Given the description of an element on the screen output the (x, y) to click on. 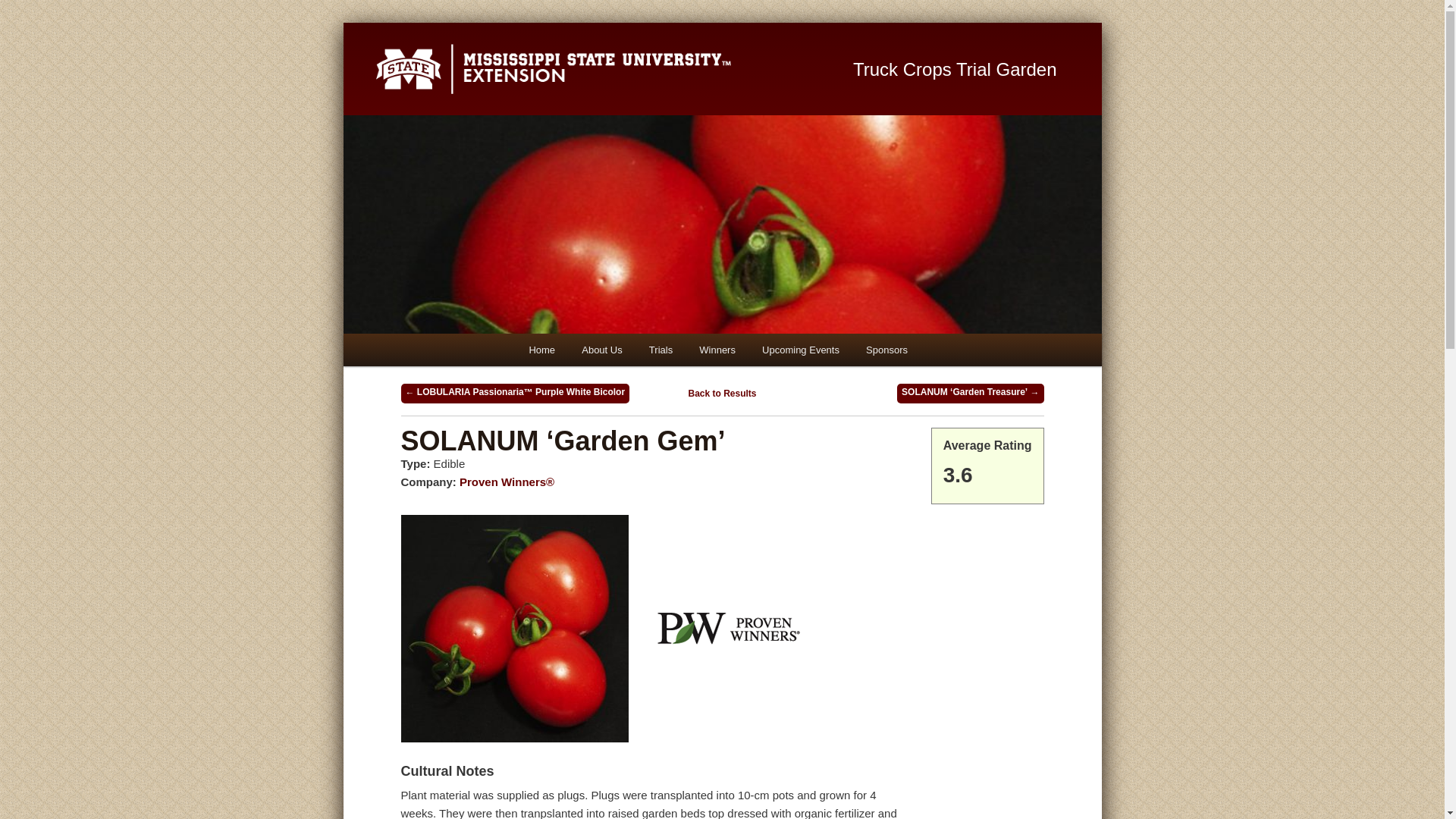
Truck Crops Trial Garden (960, 69)
About Us (601, 349)
Home (541, 349)
Trials (660, 349)
Upcoming Events (799, 349)
Sponsors (885, 349)
Truck Crops Trial Garden (960, 69)
Winners (717, 349)
Mississippi State University Extension (595, 68)
Back to Results (721, 393)
